Given the description of an element on the screen output the (x, y) to click on. 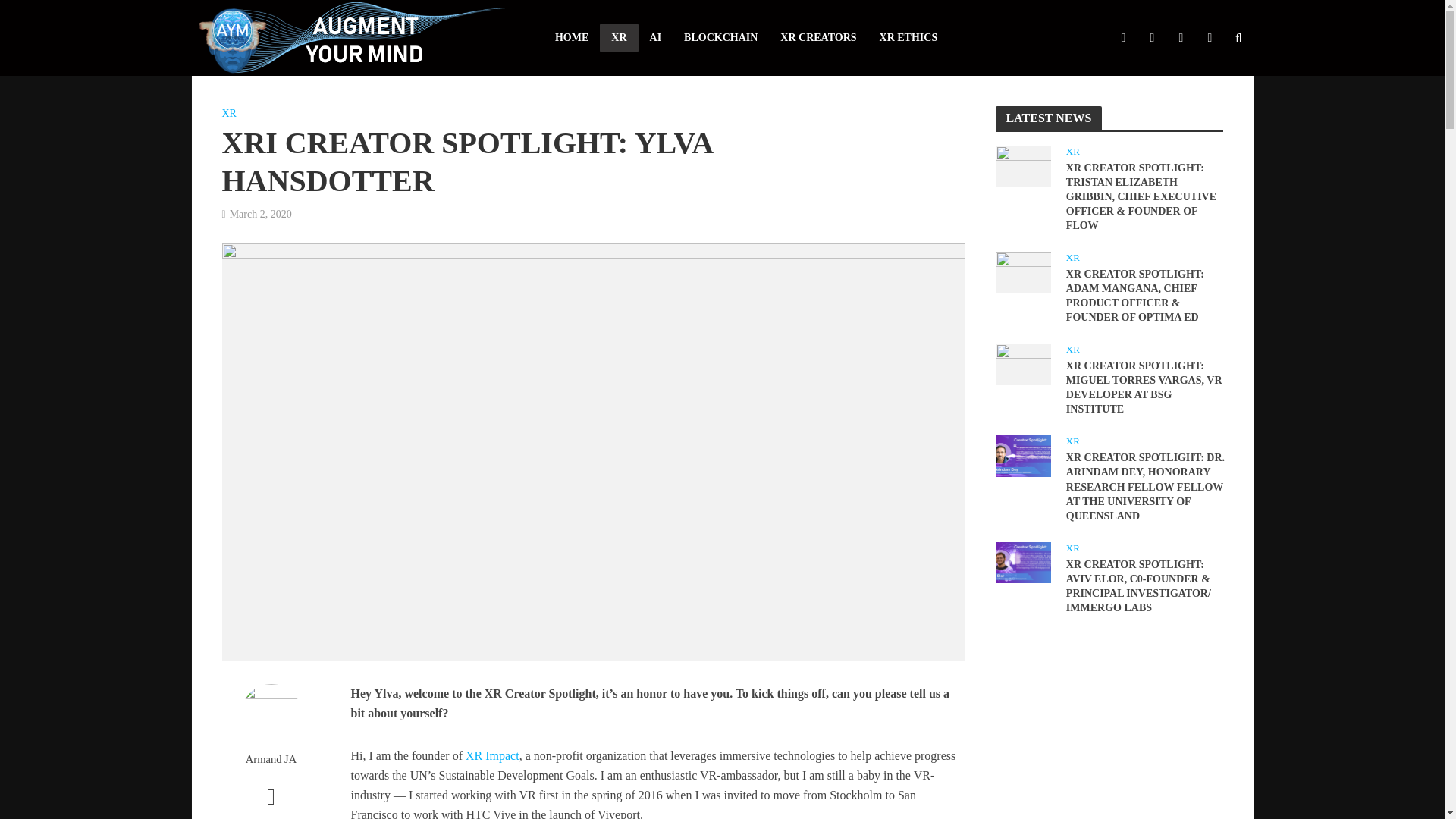
XR Impact (492, 756)
BLOCKCHAIN (720, 37)
AI (655, 37)
HOME (571, 37)
Add Comment (270, 804)
XR CREATORS (817, 37)
XR (618, 37)
Armand JA (270, 759)
XR ETHICS (908, 37)
